Given the description of an element on the screen output the (x, y) to click on. 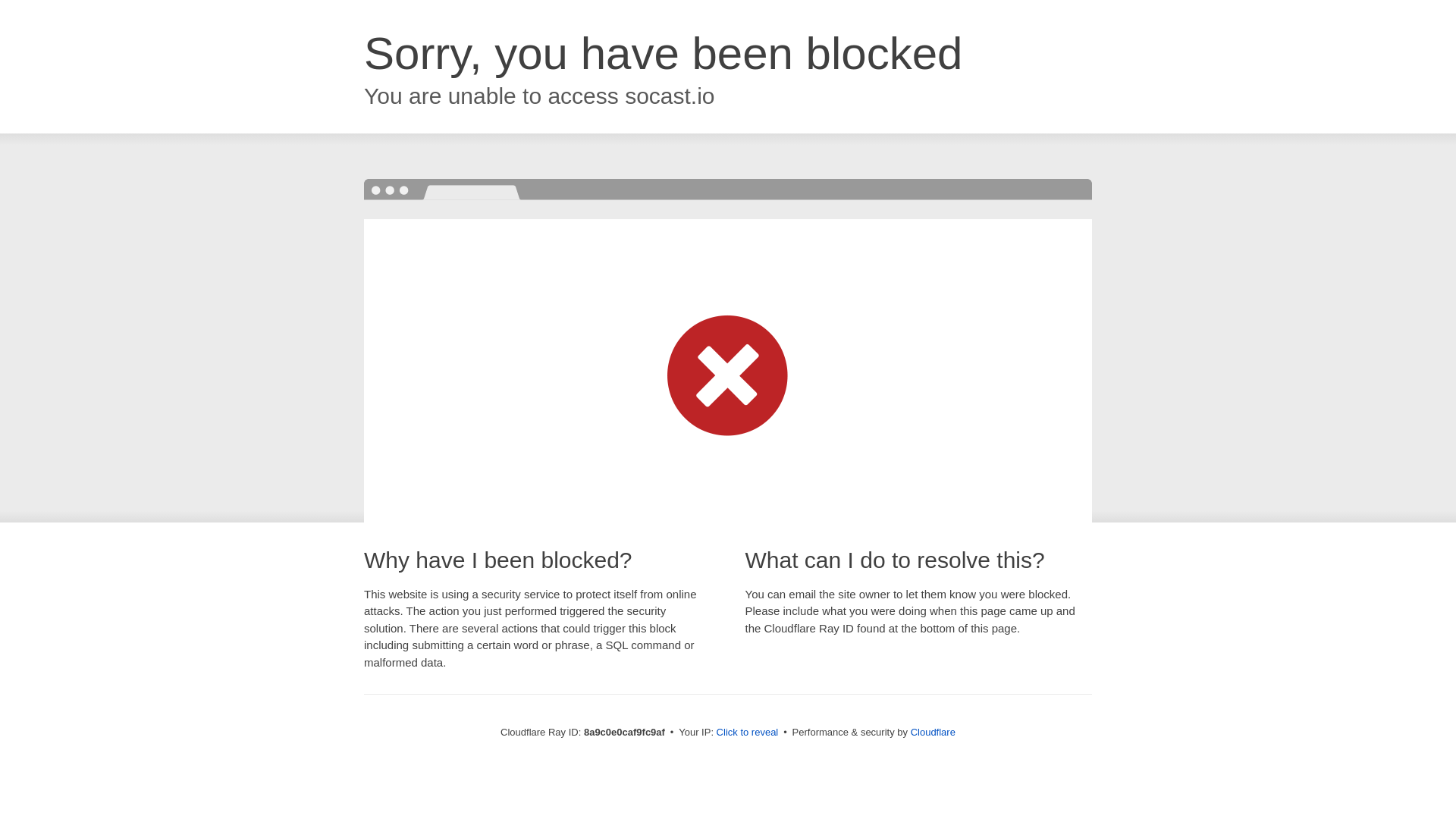
Click to reveal (747, 732)
Cloudflare (933, 731)
